Given the description of an element on the screen output the (x, y) to click on. 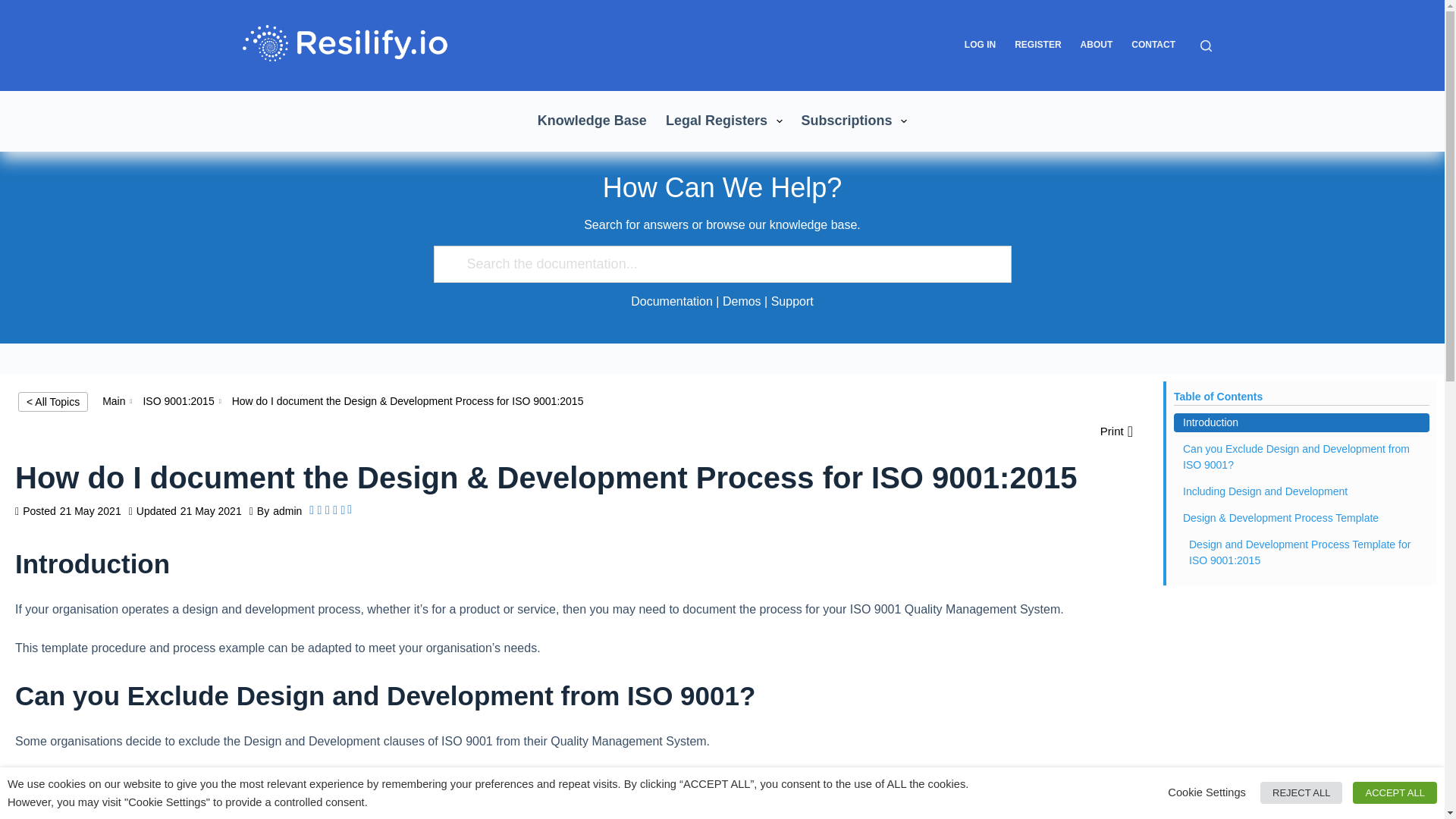
Legal Registers (724, 120)
Subscriptions (854, 120)
Documentation (671, 300)
Knowledge Base (591, 120)
Skip to content (15, 7)
